Given the description of an element on the screen output the (x, y) to click on. 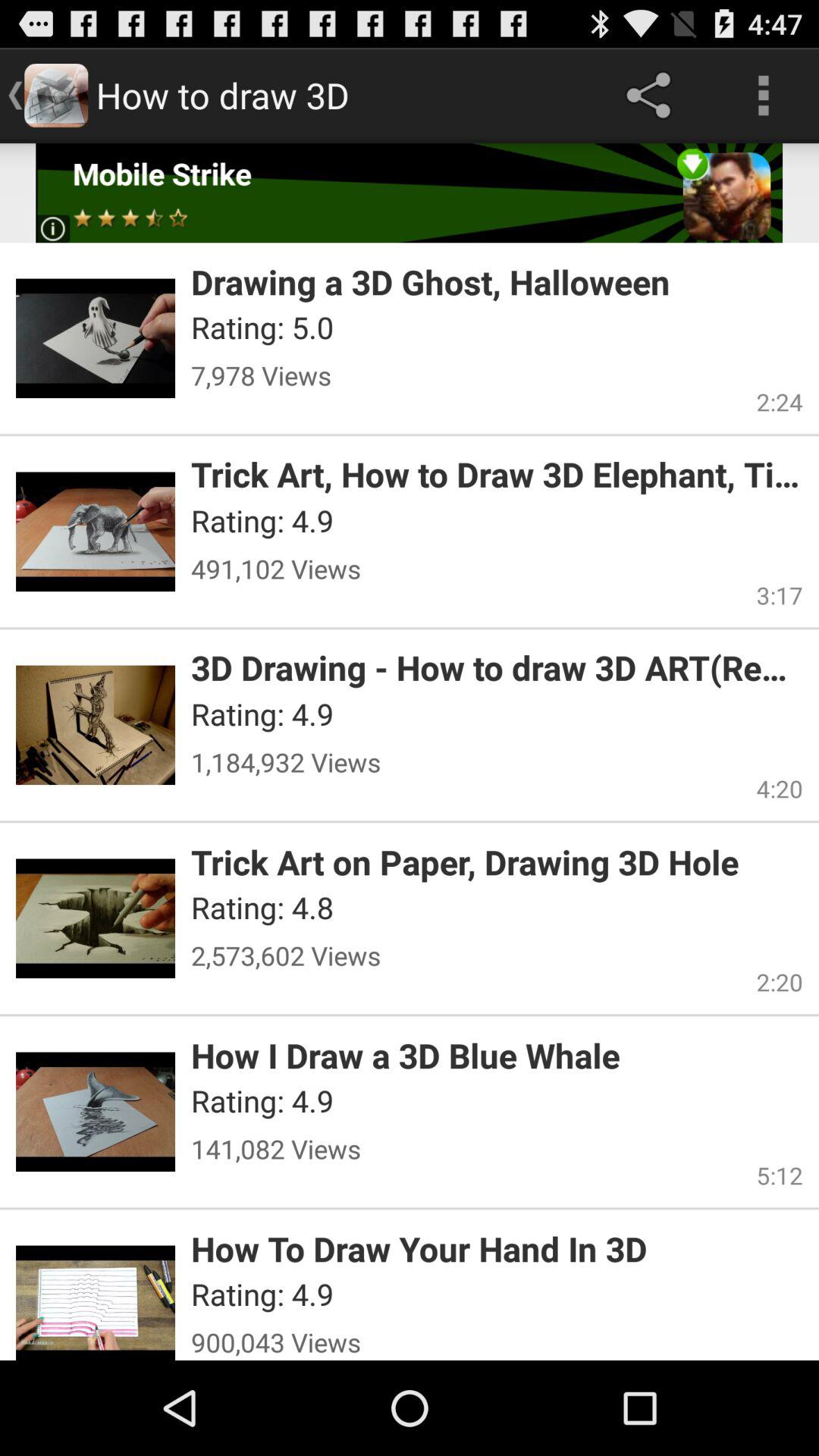
click on the button beside stars (52, 229)
